Given the description of an element on the screen output the (x, y) to click on. 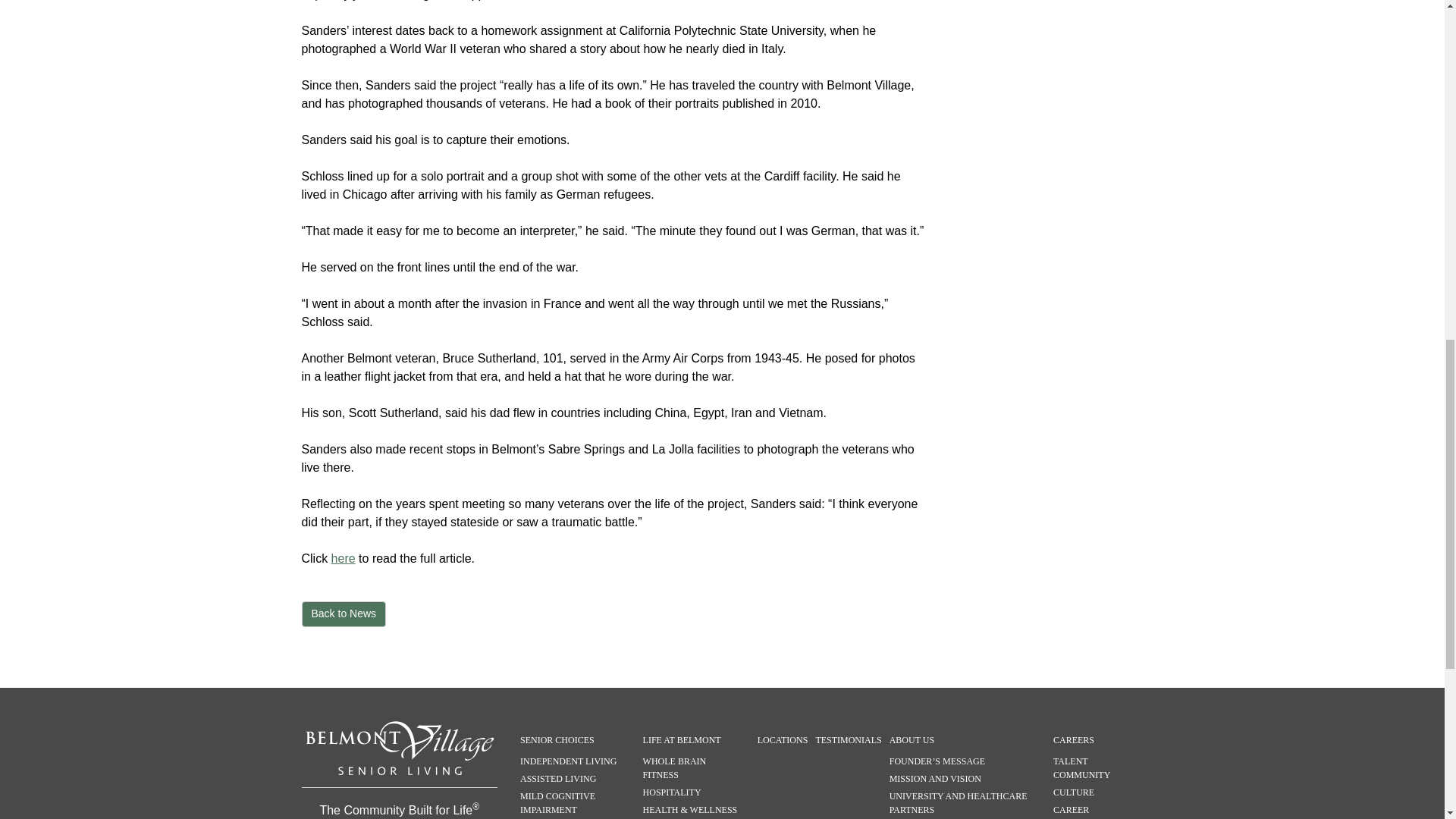
here (343, 558)
